Given the description of an element on the screen output the (x, y) to click on. 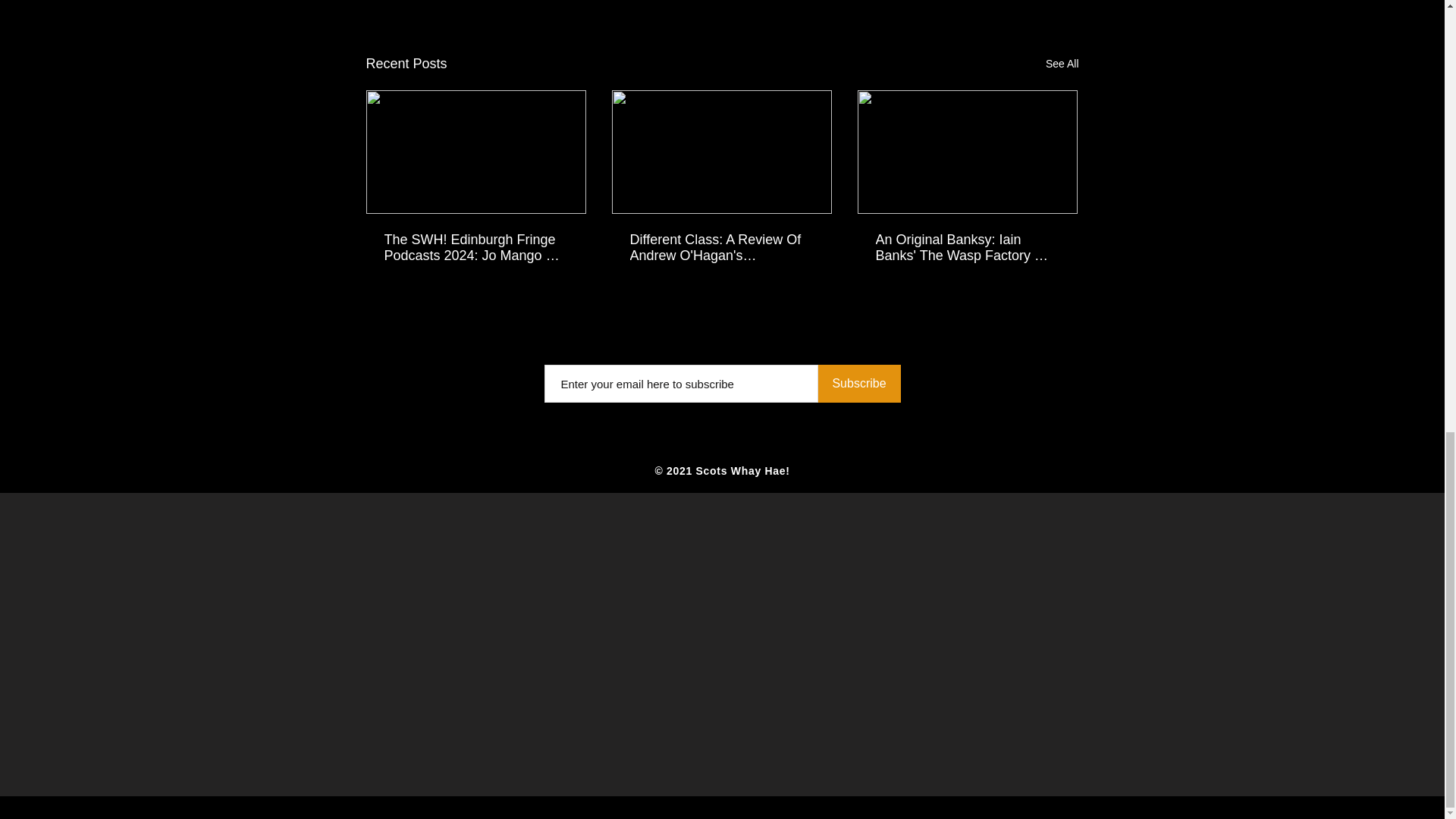
See All (1061, 64)
Subscribe (857, 383)
